Given the description of an element on the screen output the (x, y) to click on. 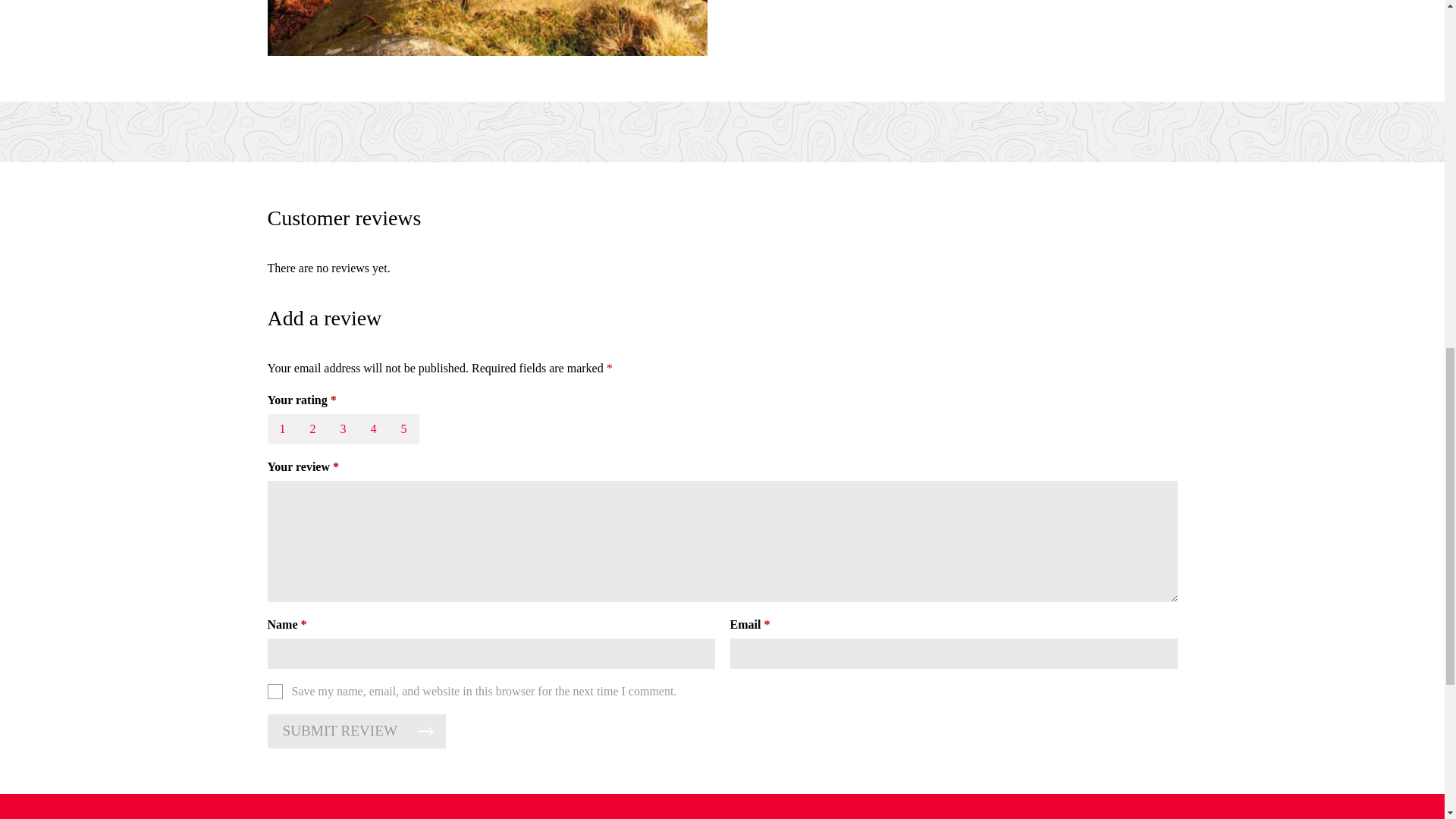
2 (312, 429)
5 (403, 429)
yes (274, 691)
1 (281, 429)
4 (373, 429)
3 (342, 429)
Submit review (355, 731)
Submit review (355, 731)
